Given the description of an element on the screen output the (x, y) to click on. 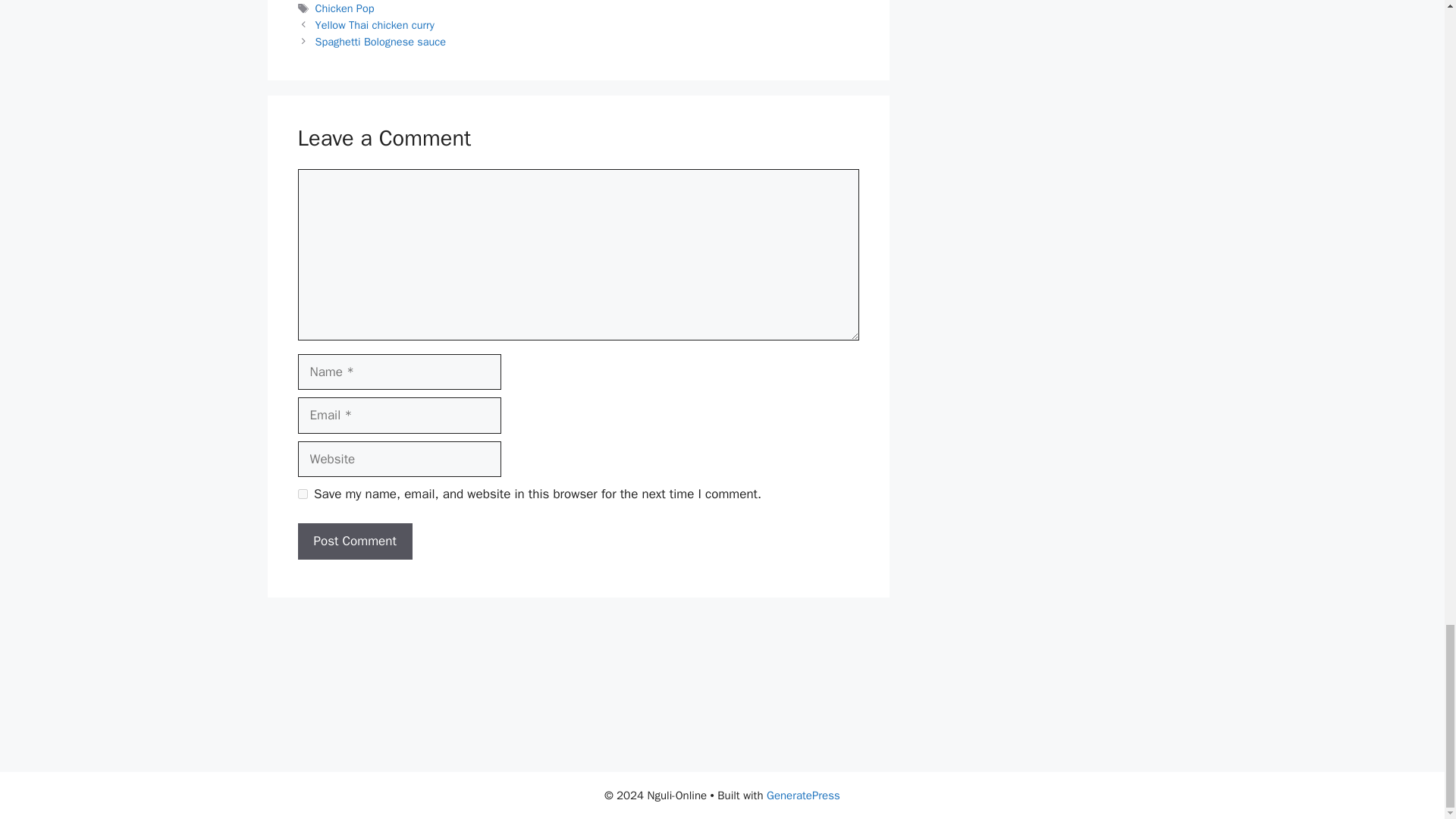
Yellow Thai chicken curry (374, 24)
Chicken Pop (344, 8)
Post Comment (354, 541)
yes (302, 493)
Post Comment (354, 541)
Spaghetti Bolognese sauce (380, 41)
GeneratePress (803, 795)
